Given the description of an element on the screen output the (x, y) to click on. 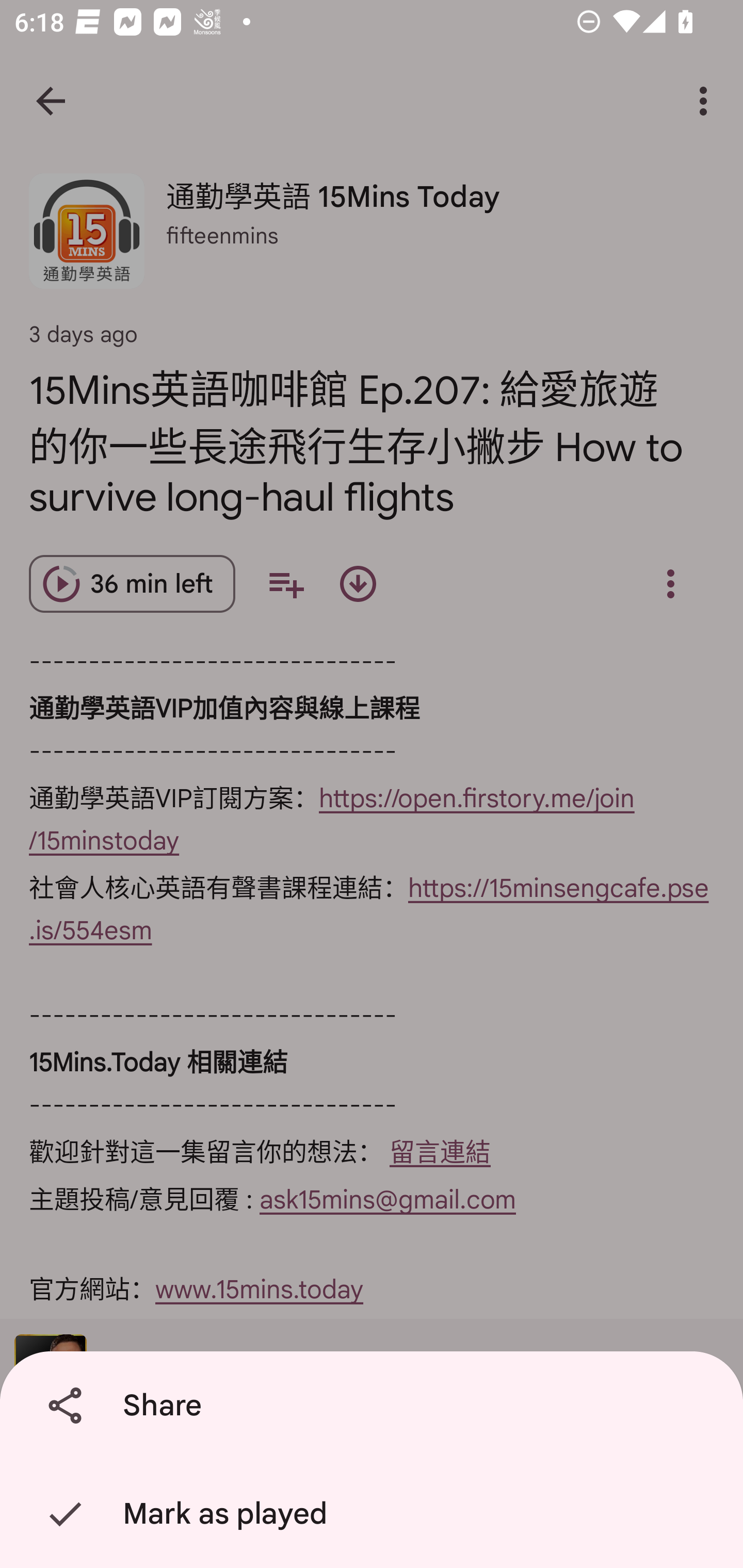
Share (375, 1405)
Mark as played (375, 1513)
